Given the description of an element on the screen output the (x, y) to click on. 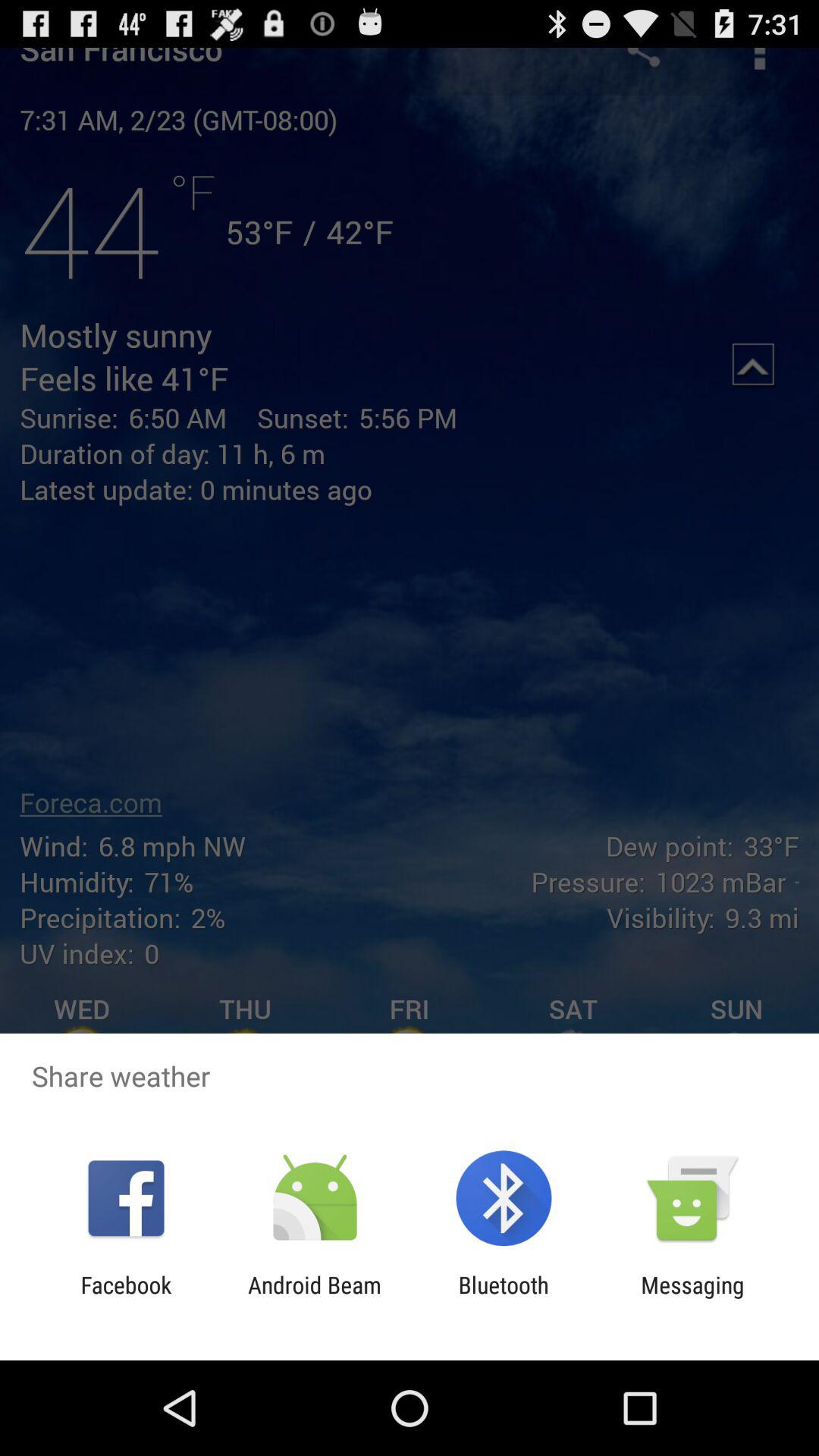
click icon to the left of the android beam (125, 1298)
